Given the description of an element on the screen output the (x, y) to click on. 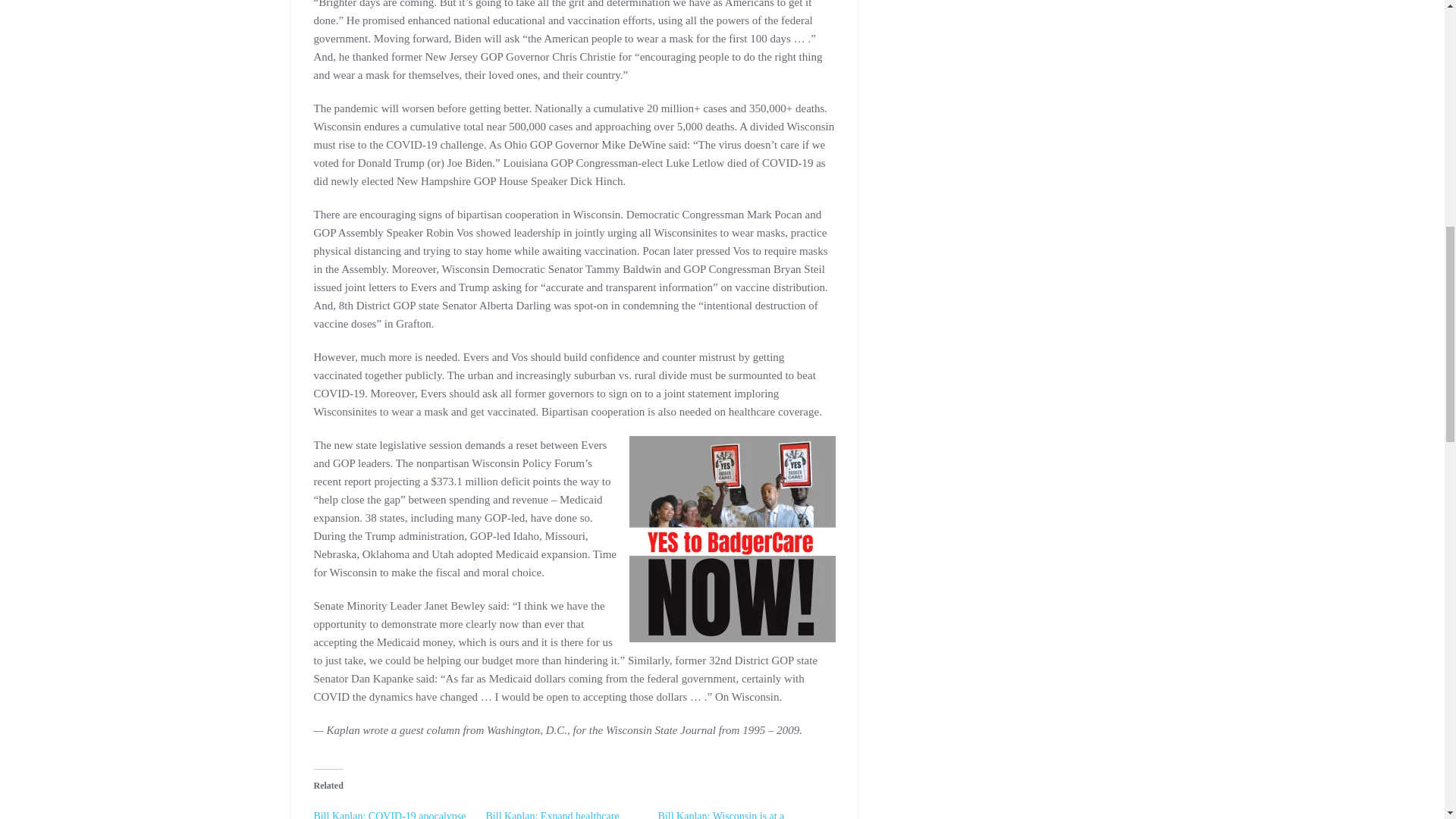
Bill Kaplan: COVID-19 apocalypse is here (389, 814)
Bill Kaplan: Wisconsin is at a COVID-19 tipping point (721, 814)
Bill Kaplan: Expand healthcare coverage in 2021 (553, 814)
